Given the description of an element on the screen output the (x, y) to click on. 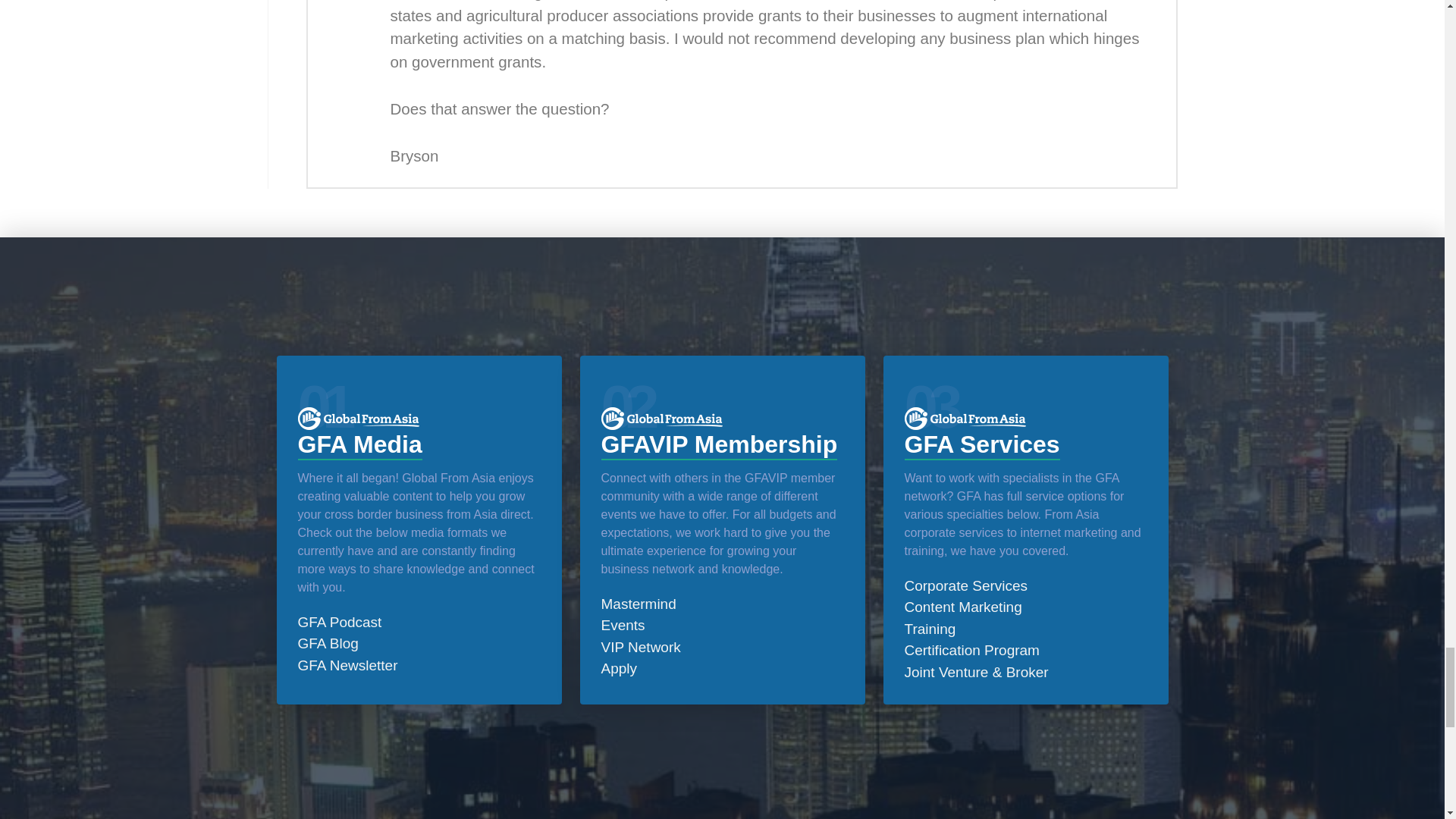
Audio Podcast on Cross Border E-Commerce and Trade (339, 622)
